Given the description of an element on the screen output the (x, y) to click on. 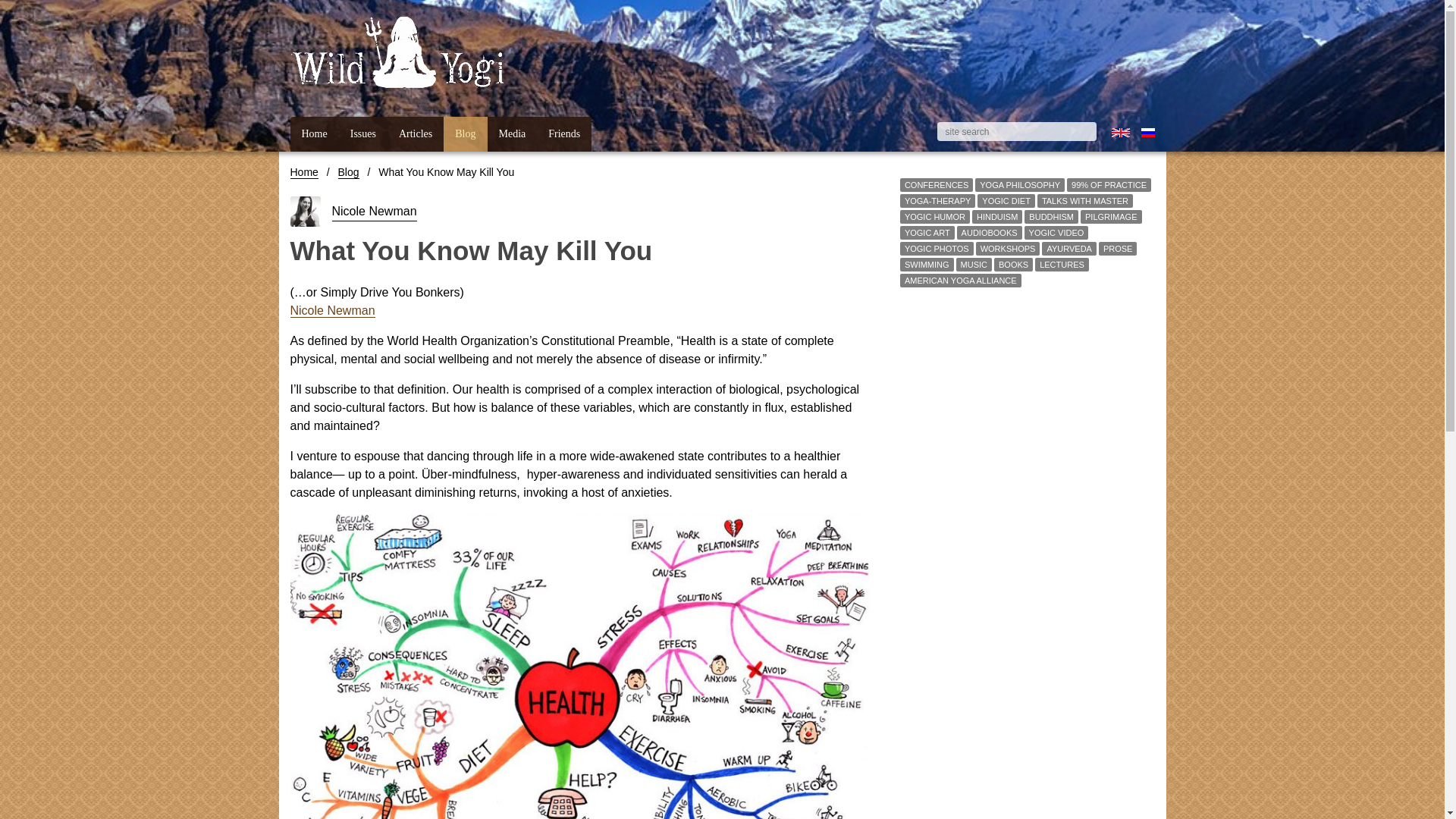
AUDIOBOOKS (988, 232)
PILGRIMAGE (1110, 216)
Home (313, 134)
PROSE (1117, 248)
BUDDHISM (1051, 216)
SWIMMING (926, 264)
CONFERENCES (936, 184)
LECTURES (1061, 264)
Issues (363, 134)
Friends (564, 134)
Blog (348, 172)
Home (303, 172)
Nicole Newman (373, 210)
AYURVEDA (1069, 248)
YOGA PHILOSOPHY (1019, 184)
